Given the description of an element on the screen output the (x, y) to click on. 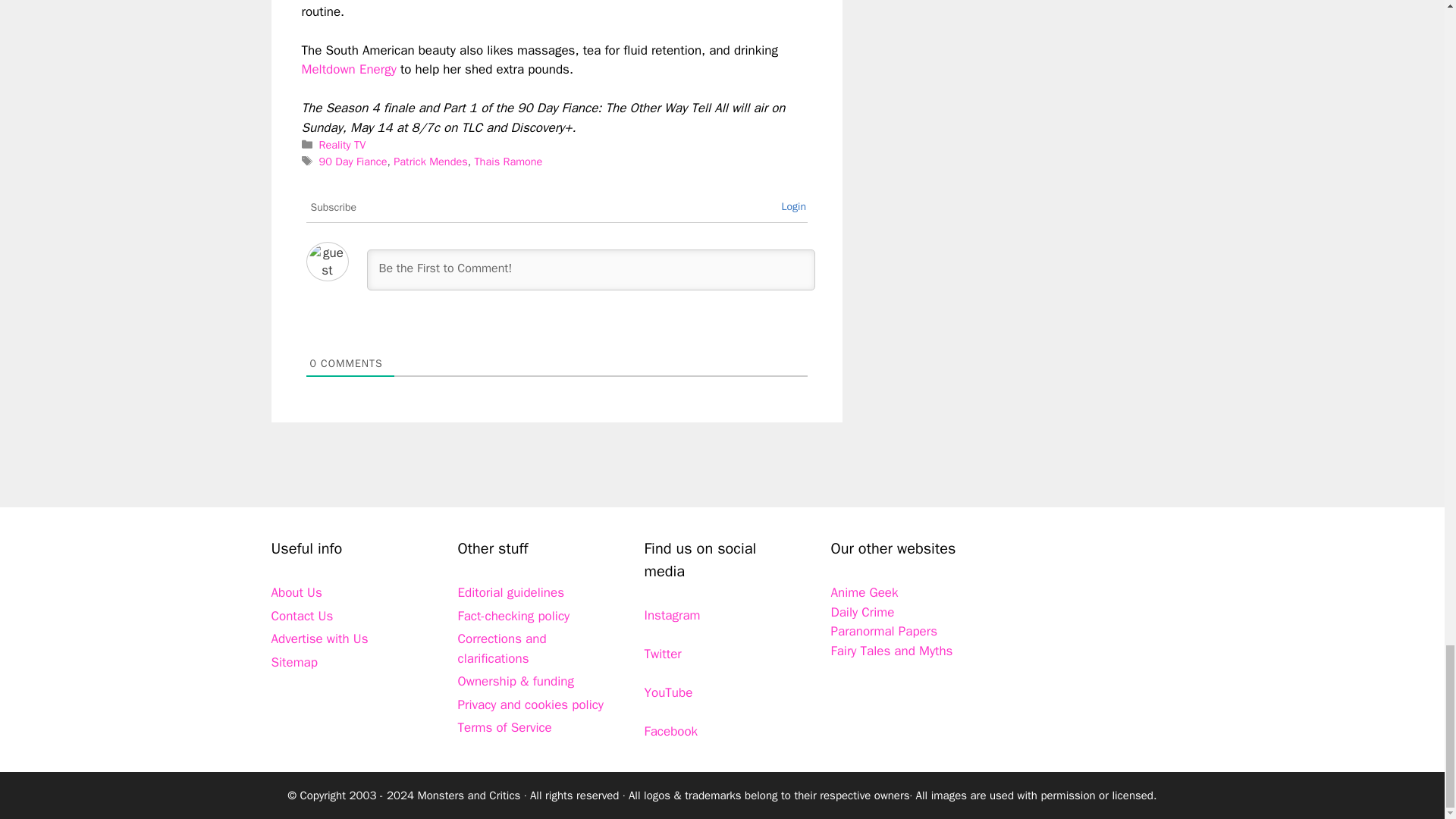
90 Day Fiance (352, 161)
Login (793, 205)
Twitter (663, 653)
Corrections and clarifications (502, 648)
Sitemap (293, 662)
Patrick Mendes (430, 161)
Fact-checking policy (514, 616)
Editorial guidelines (511, 592)
About Us (295, 592)
Terms of Service (504, 727)
